Given the description of an element on the screen output the (x, y) to click on. 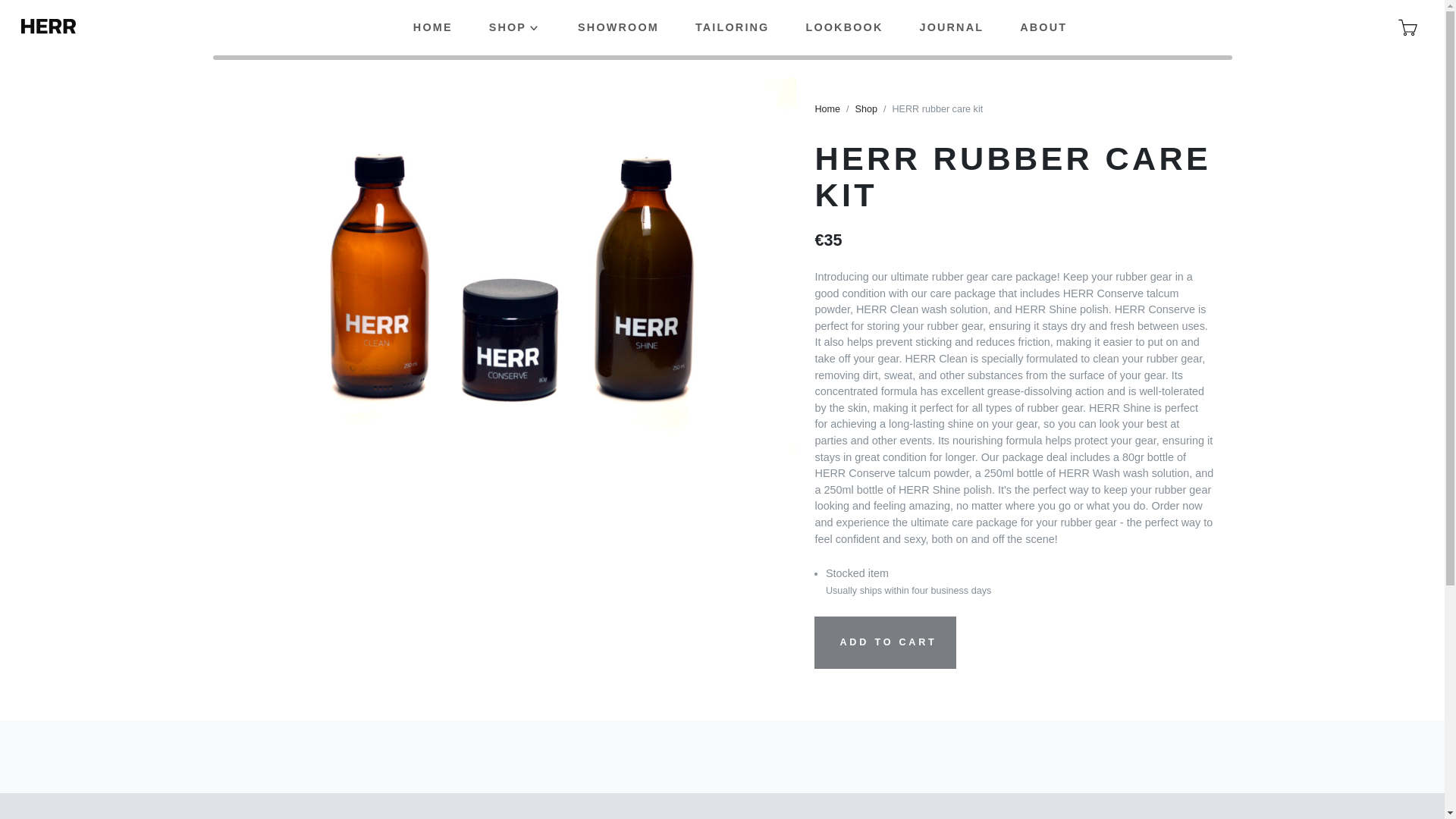
HOME (432, 27)
ADD TO CART (884, 642)
TAILORING (732, 27)
SHOWROOM (618, 27)
LOOKBOOK (844, 27)
Home (826, 109)
SHOP (514, 27)
Shop (866, 109)
JOURNAL (951, 27)
ABOUT (1042, 27)
